Given the description of an element on the screen output the (x, y) to click on. 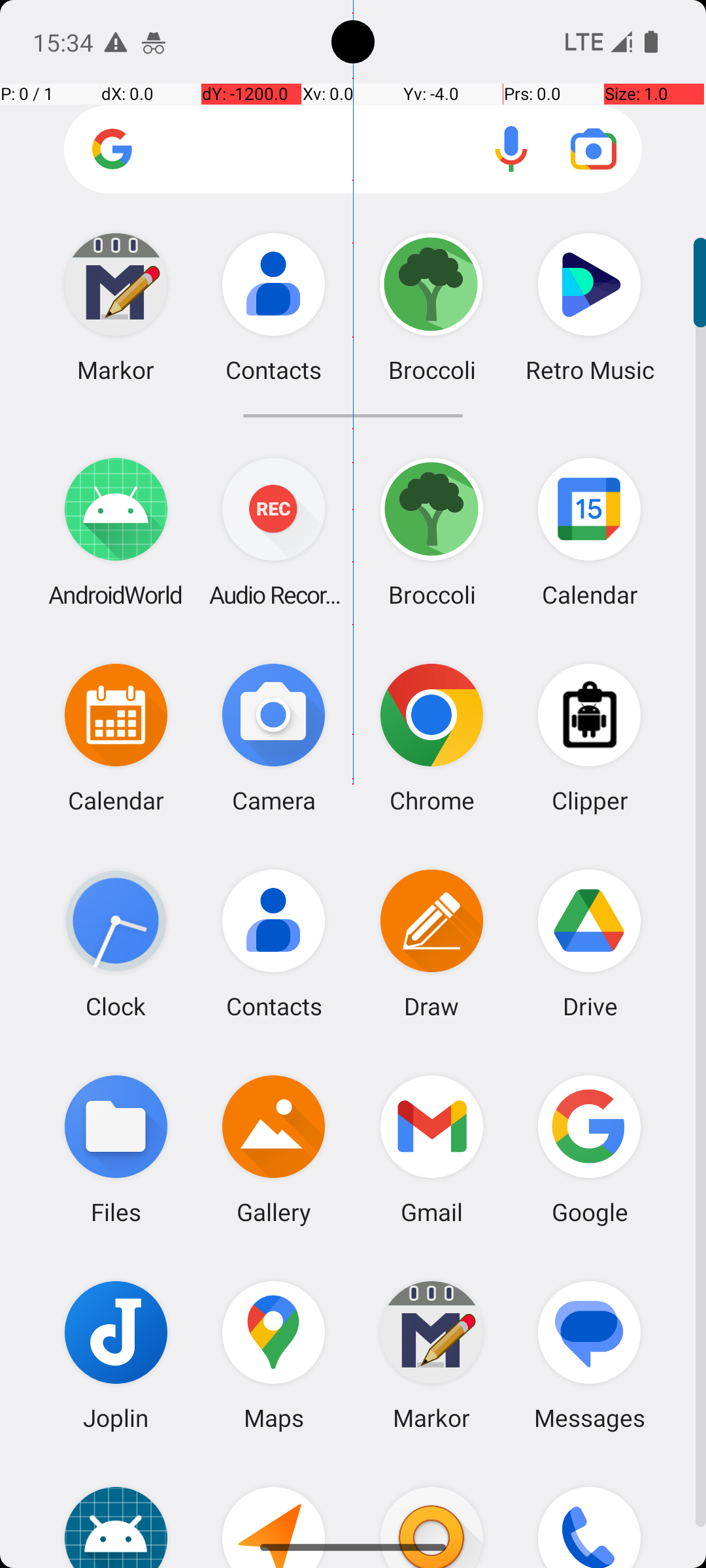
Search apps, web and more Element type: android.widget.EditText (352, 148)
AndroidWorld Element type: android.widget.TextView (115, 531)
Broccoli Element type: android.widget.TextView (431, 531)
Camera Element type: android.widget.TextView (273, 737)
Clipper Element type: android.widget.TextView (589, 737)
Draw Element type: android.widget.TextView (431, 942)
Drive Element type: android.widget.TextView (589, 942)
Gallery Element type: android.widget.TextView (273, 1148)
Google Element type: android.widget.TextView (589, 1148)
Joplin Element type: android.widget.TextView (115, 1354)
Maps Element type: android.widget.TextView (273, 1354)
Miniwob App Element type: android.widget.TextView (115, 1512)
OpenTracks Element type: android.widget.TextView (273, 1512)
OsmAnd Element type: android.widget.TextView (431, 1512)
Retro Music Element type: android.widget.TextView (589, 306)
